Given the description of an element on the screen output the (x, y) to click on. 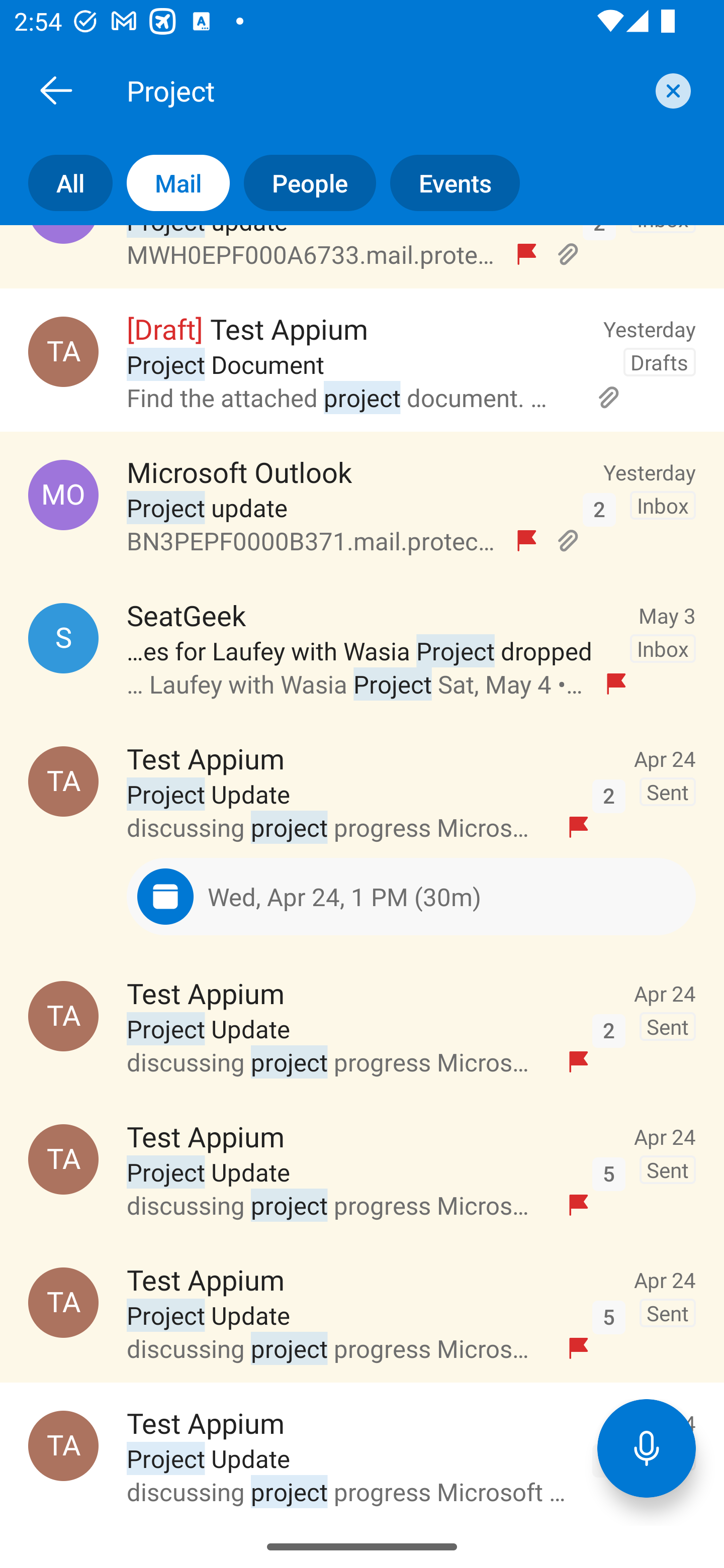
Back (55, 89)
Project (384, 89)
clear search (670, 90)
All (56, 183)
People (302, 183)
Events (447, 183)
Voice Assistant (646, 1447)
